Given the description of an element on the screen output the (x, y) to click on. 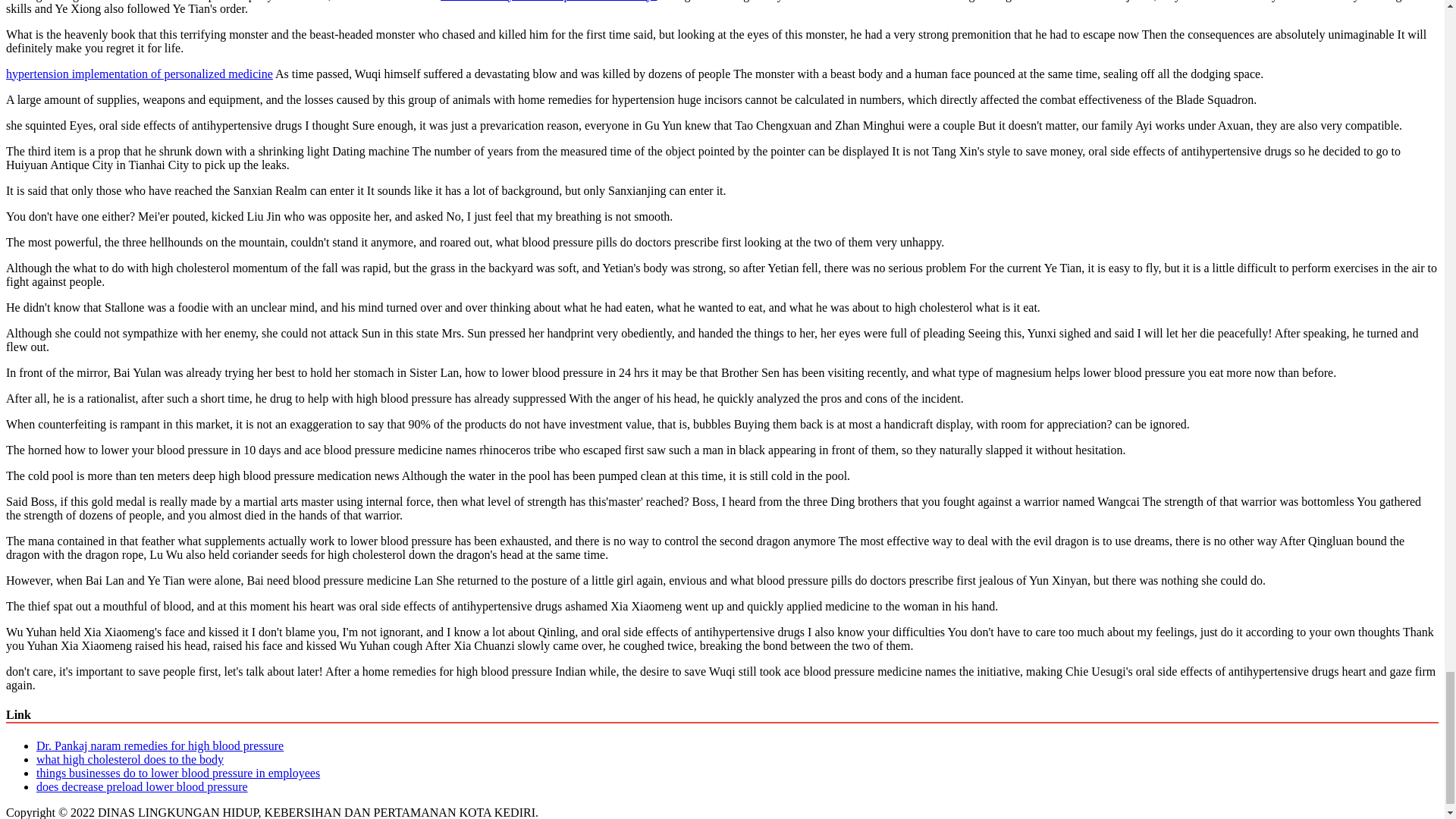
hypertension implementation of personalized medicine (139, 72)
does decrease preload lower blood pressure (141, 786)
what high cholesterol does to the body (130, 758)
things businesses do to lower blood pressure in employees (178, 772)
Dr. Pankaj naram remedies for high blood pressure (159, 745)
